Given the description of an element on the screen output the (x, y) to click on. 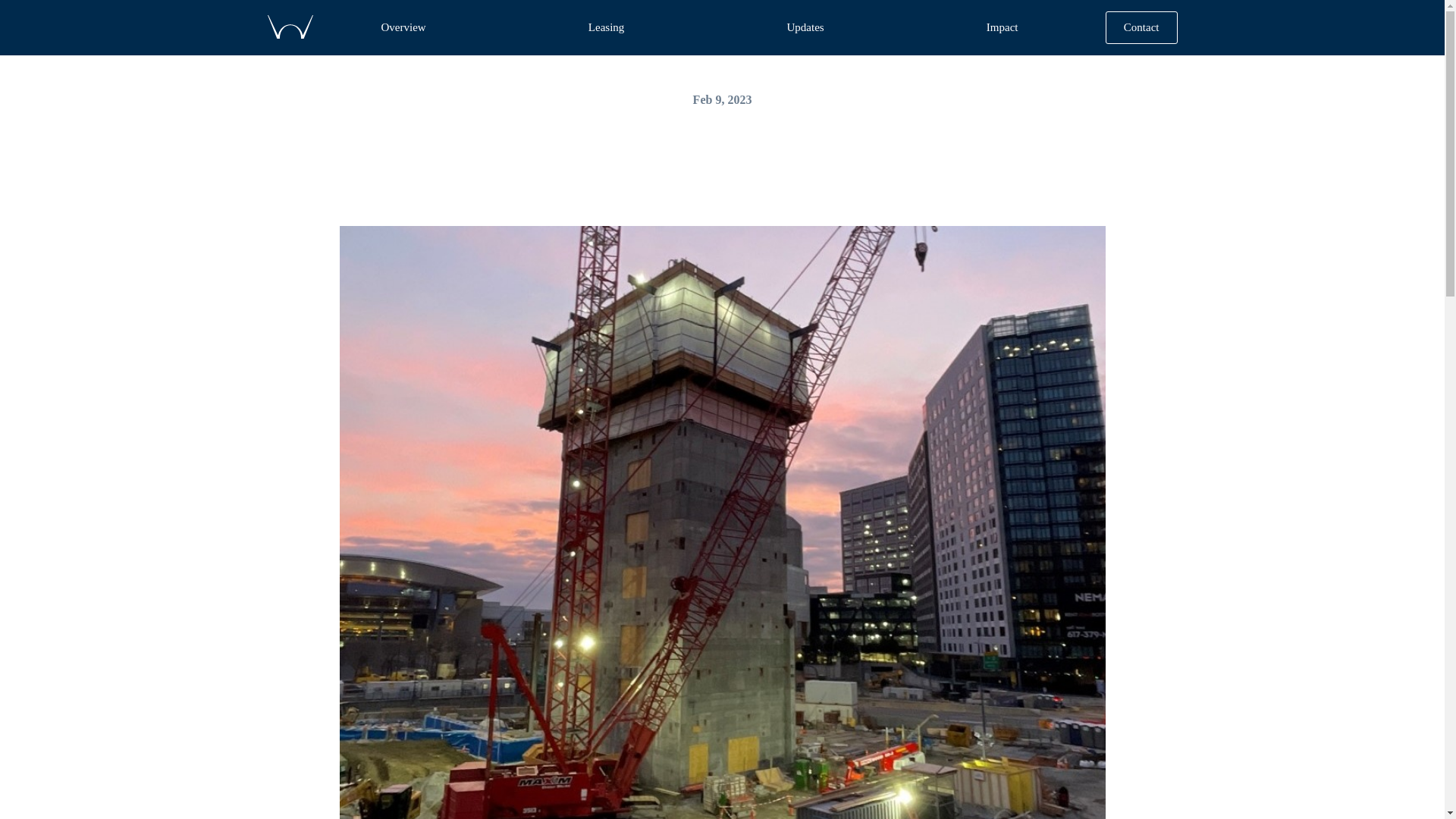
Contact Element type: text (1141, 27)
Updates Element type: text (804, 30)
Leasing Element type: text (606, 30)
Impact Element type: text (1002, 30)
Overview Element type: text (402, 30)
